Given the description of an element on the screen output the (x, y) to click on. 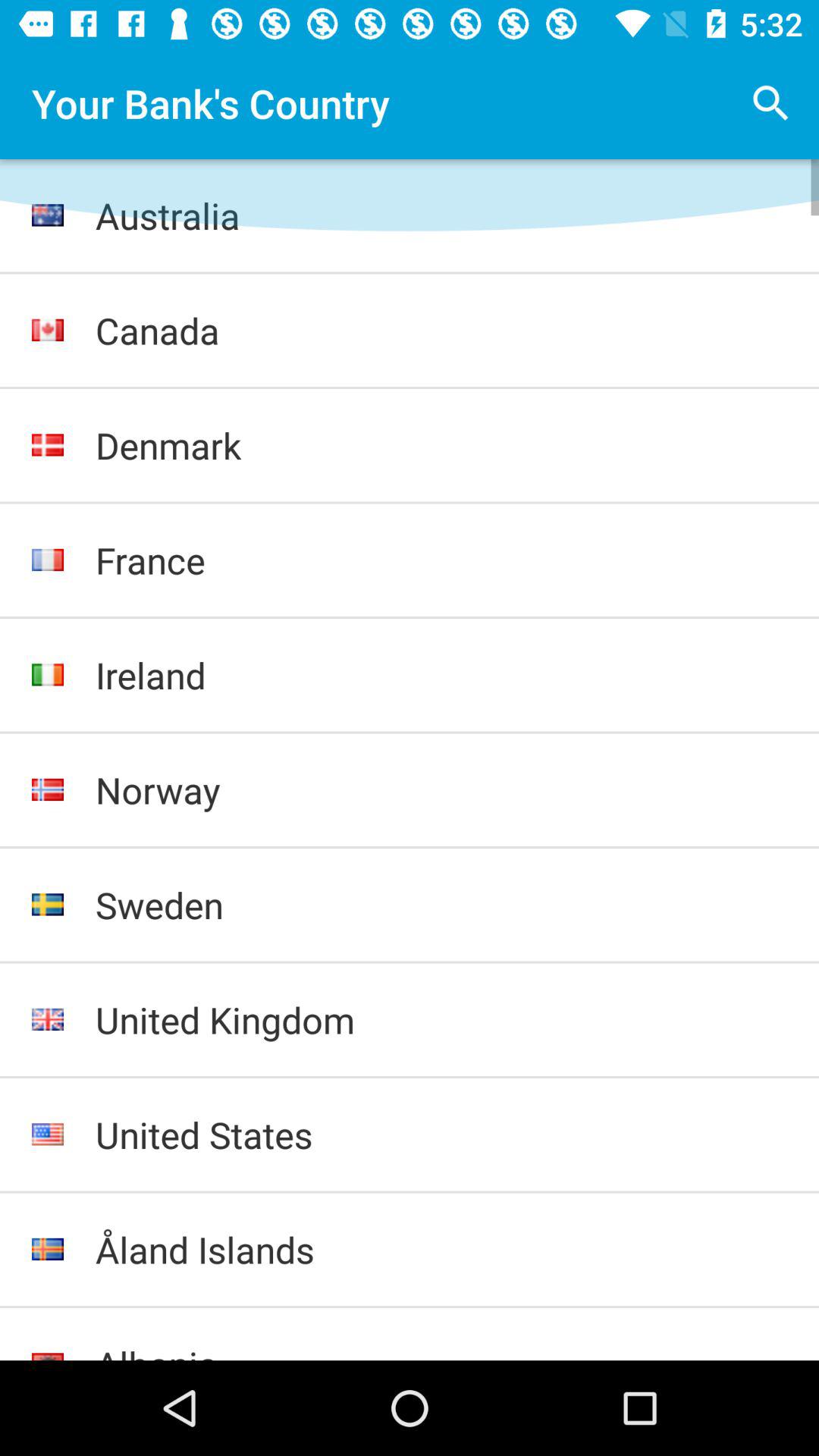
turn on the item below the united states (441, 1249)
